Given the description of an element on the screen output the (x, y) to click on. 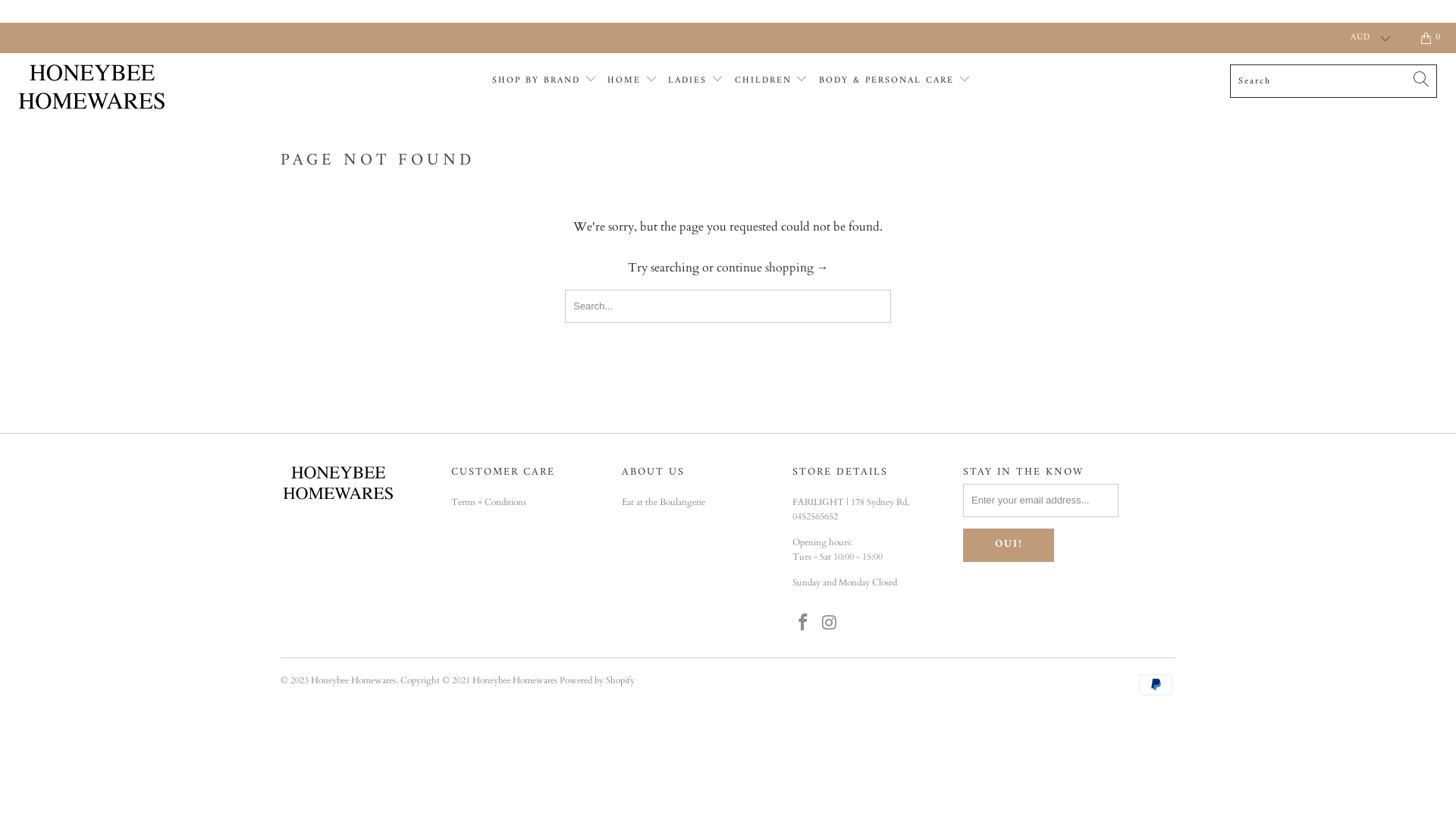
CHILDREN Element type: text (771, 81)
Terms + Conditions Element type: text (488, 501)
BODY & PERSONAL CARE Element type: text (894, 81)
Honeybee Homewares Element type: hover (123, 87)
LADIES Element type: text (695, 81)
Oui! Element type: text (1008, 544)
Powered by Shopify Element type: text (596, 680)
0452565652 Element type: text (814, 516)
Honeybee Homewares Element type: text (352, 680)
SHOP BY BRAND Element type: text (544, 81)
HOME Element type: text (632, 81)
Honeybee Homewares on Instagram Element type: hover (830, 623)
Eat at the Boulangerie Element type: text (663, 501)
Honeybee Homewares on Facebook Element type: hover (803, 623)
